Given the description of an element on the screen output the (x, y) to click on. 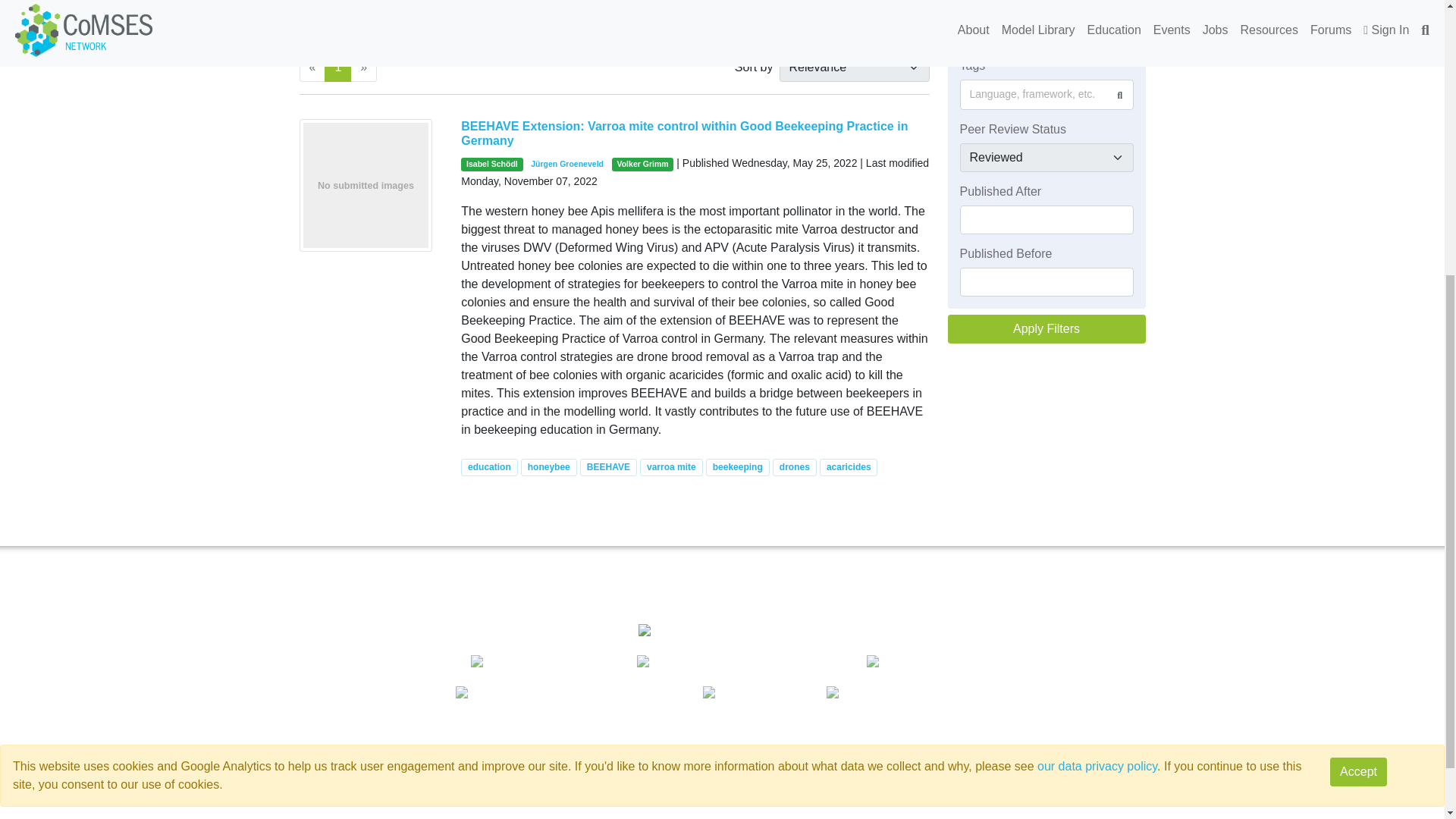
BEEHAVE (608, 466)
Volker Grimm (642, 164)
honeybee (548, 466)
Apply Filters (1046, 327)
beekeeping (738, 466)
our data privacy policy (1096, 327)
CoMSES Net on GitHub (794, 805)
clear (512, 31)
varroa mite (670, 466)
drones (794, 466)
YouTube Channel (1113, 662)
education (488, 466)
Accept (1358, 332)
